Given the description of an element on the screen output the (x, y) to click on. 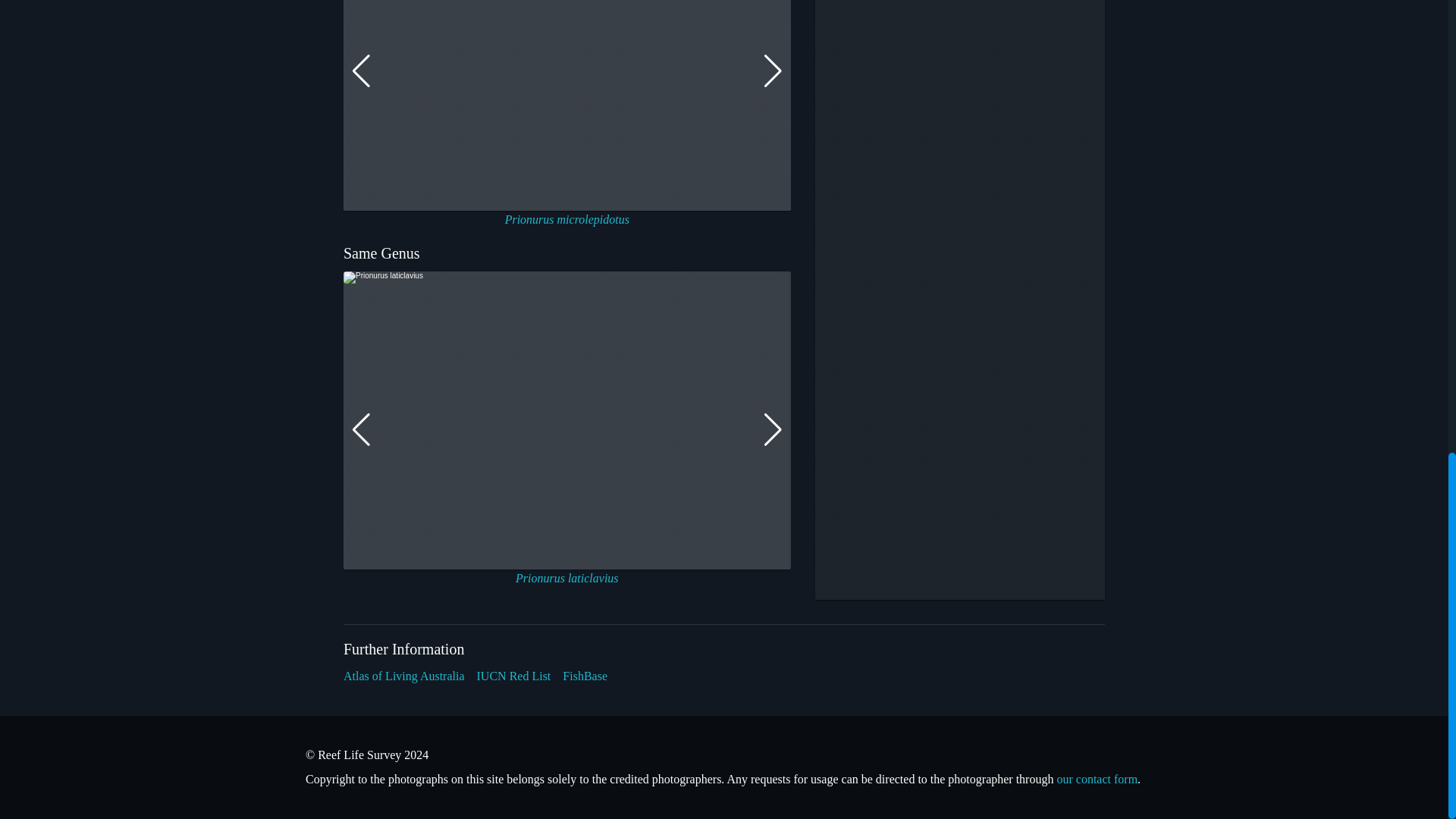
IUCN Red List (514, 675)
Prionurus laticlavius (566, 577)
FishBase (584, 675)
Atlas of Living Australia (403, 675)
Prionurus microlepidotus (566, 219)
our contact form (1097, 779)
